Given the description of an element on the screen output the (x, y) to click on. 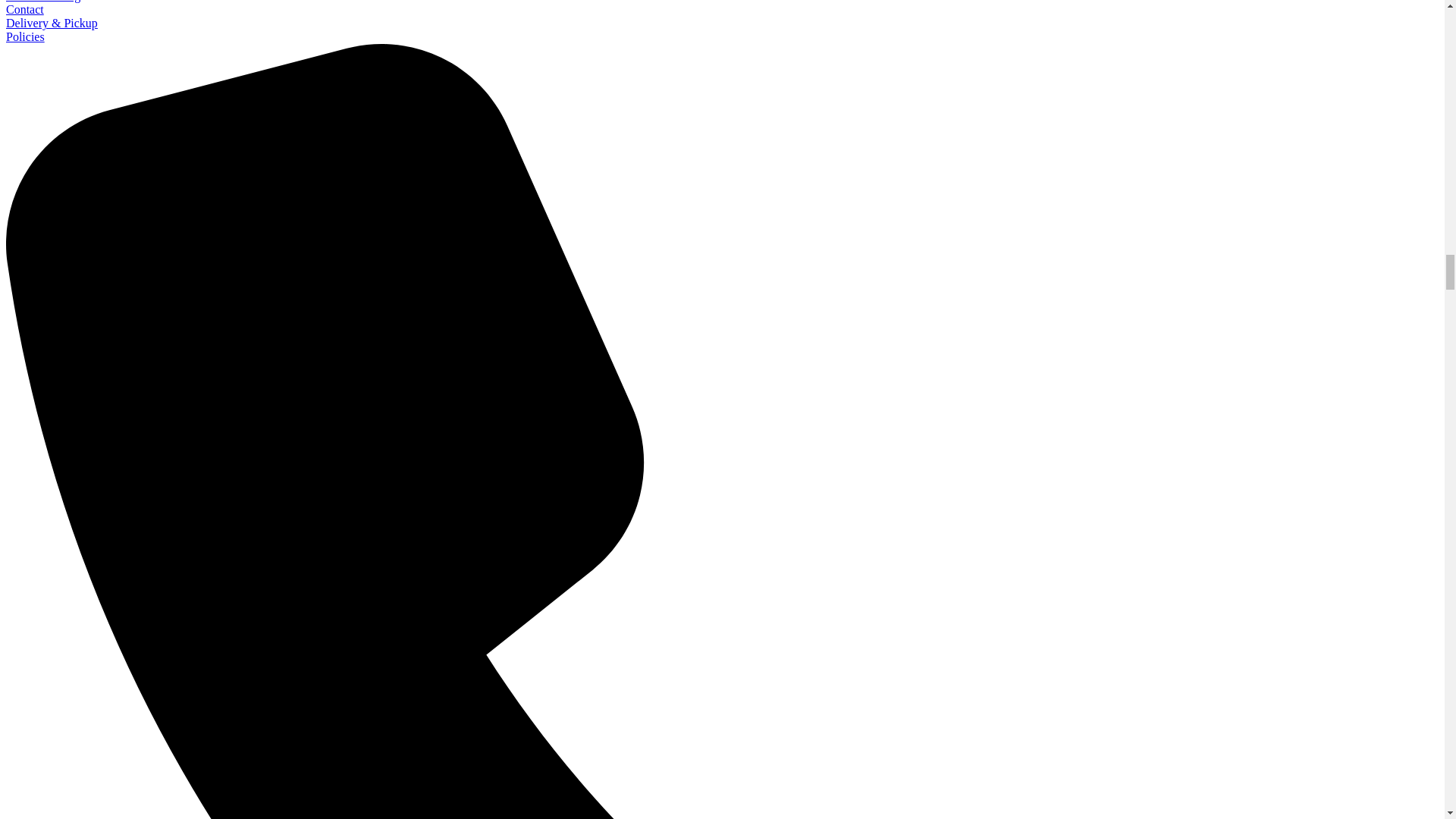
Contact (24, 9)
Policies (25, 36)
Order Tracking (42, 1)
